Given the description of an element on the screen output the (x, y) to click on. 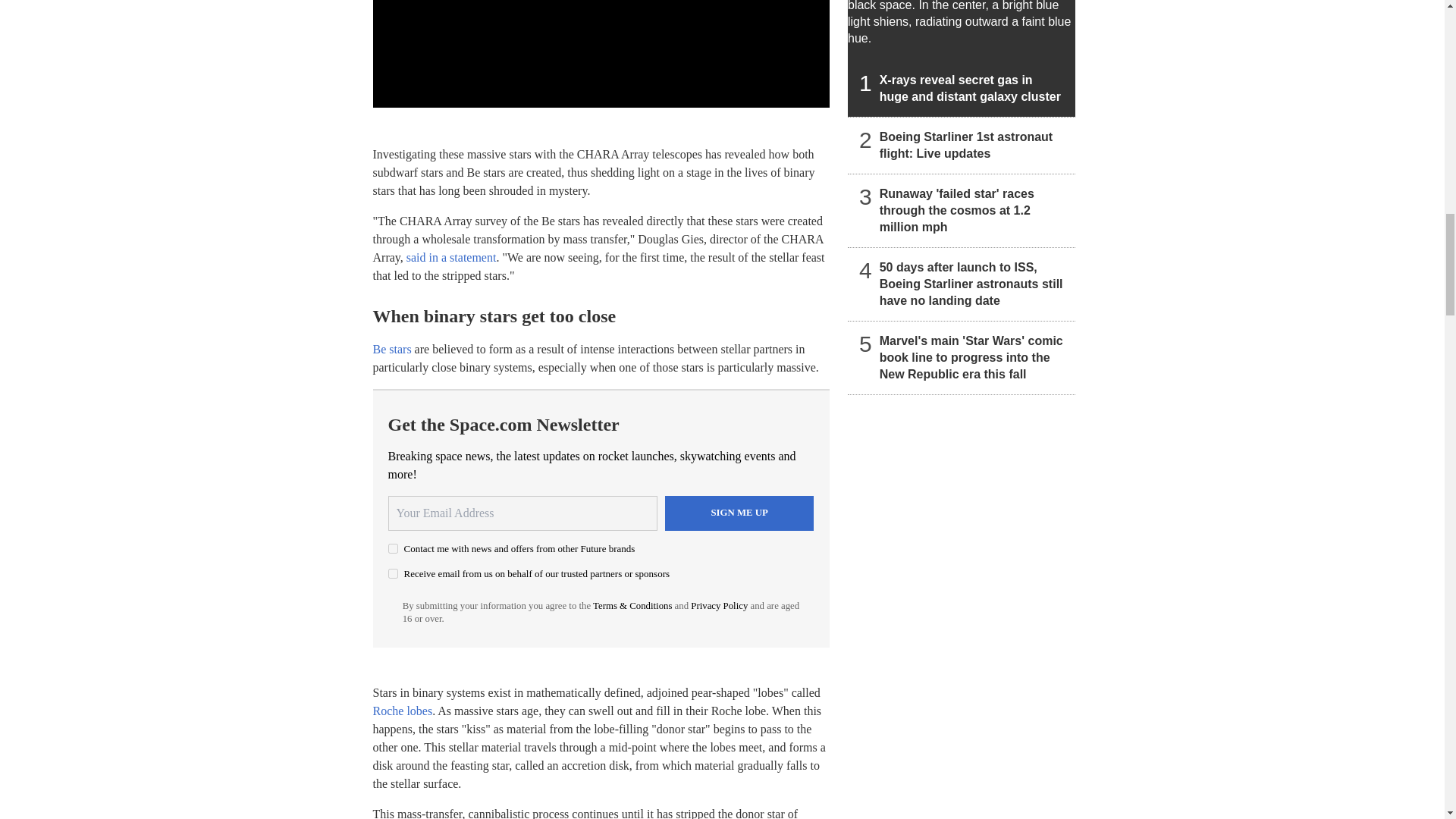
X-rays reveal secret gas in huge and distant galaxy cluster  (961, 58)
on (392, 573)
Sign me up (739, 513)
on (392, 548)
